Given the description of an element on the screen output the (x, y) to click on. 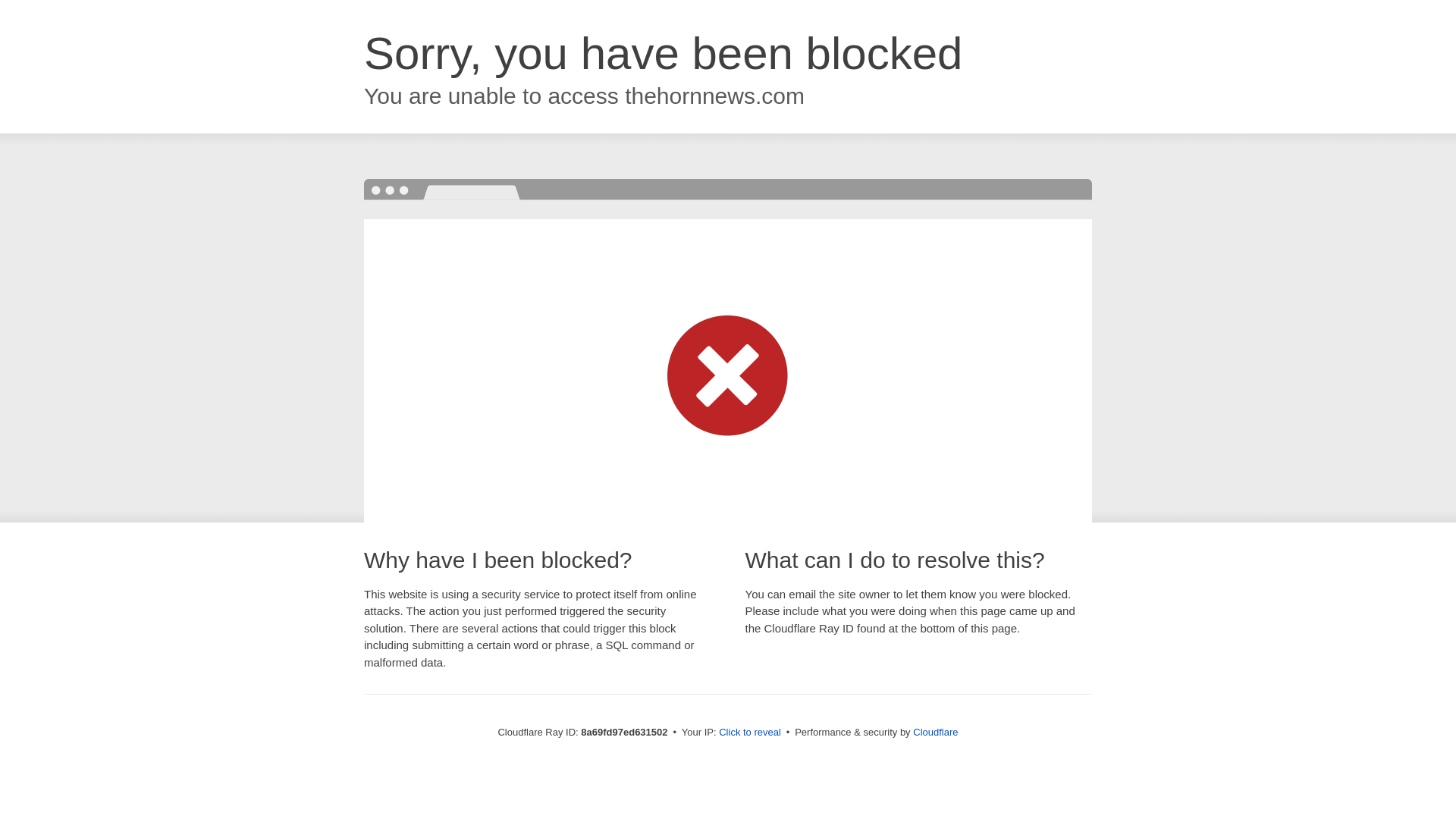
Cloudflare (935, 731)
Click to reveal (749, 732)
